Given the description of an element on the screen output the (x, y) to click on. 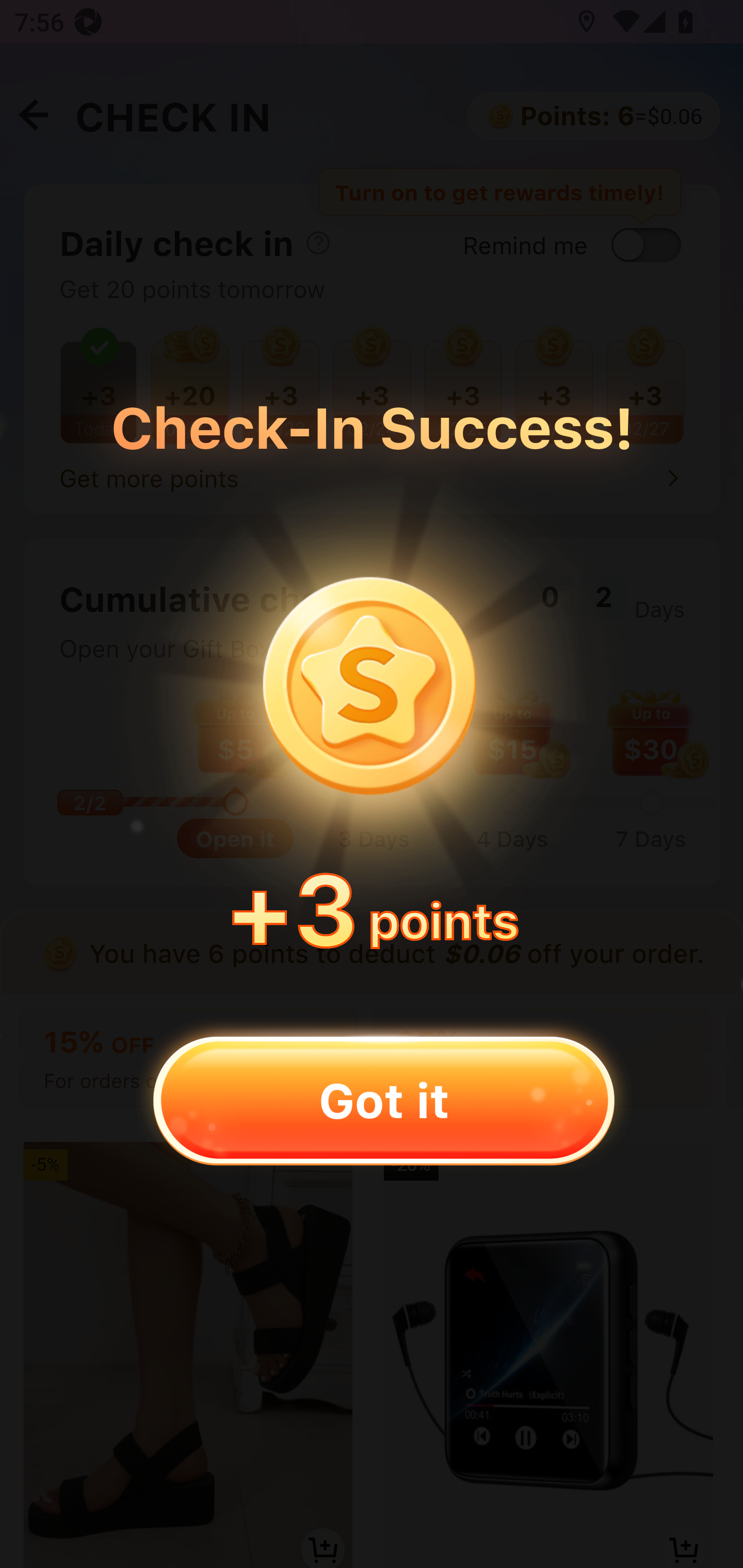
Got it (383, 1099)
